Given the description of an element on the screen output the (x, y) to click on. 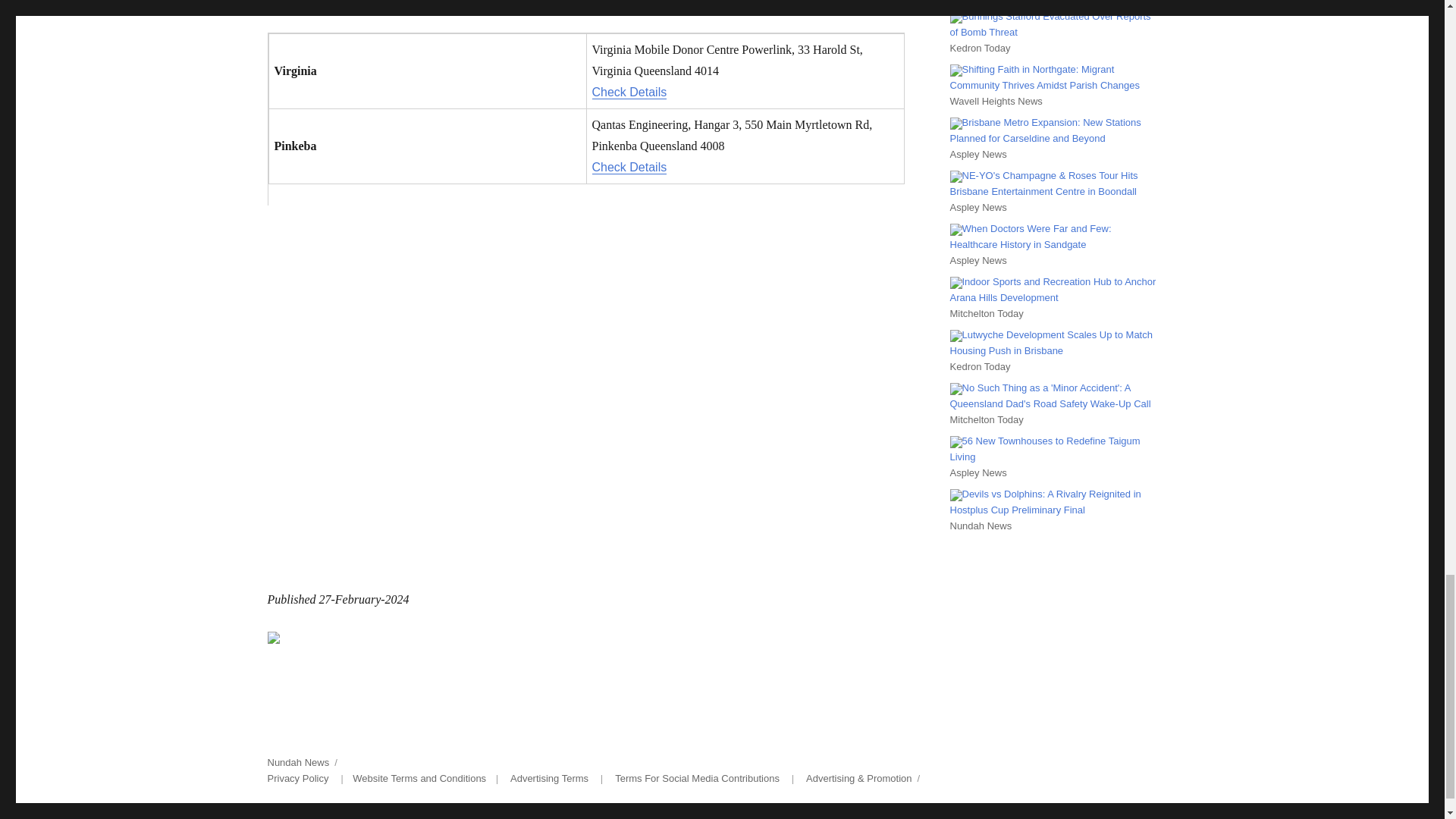
Bunnings Stafford Evacuated Over Reports of Bomb Threat (1049, 23)
Check Details (628, 91)
Check Details (628, 166)
